Given the description of an element on the screen output the (x, y) to click on. 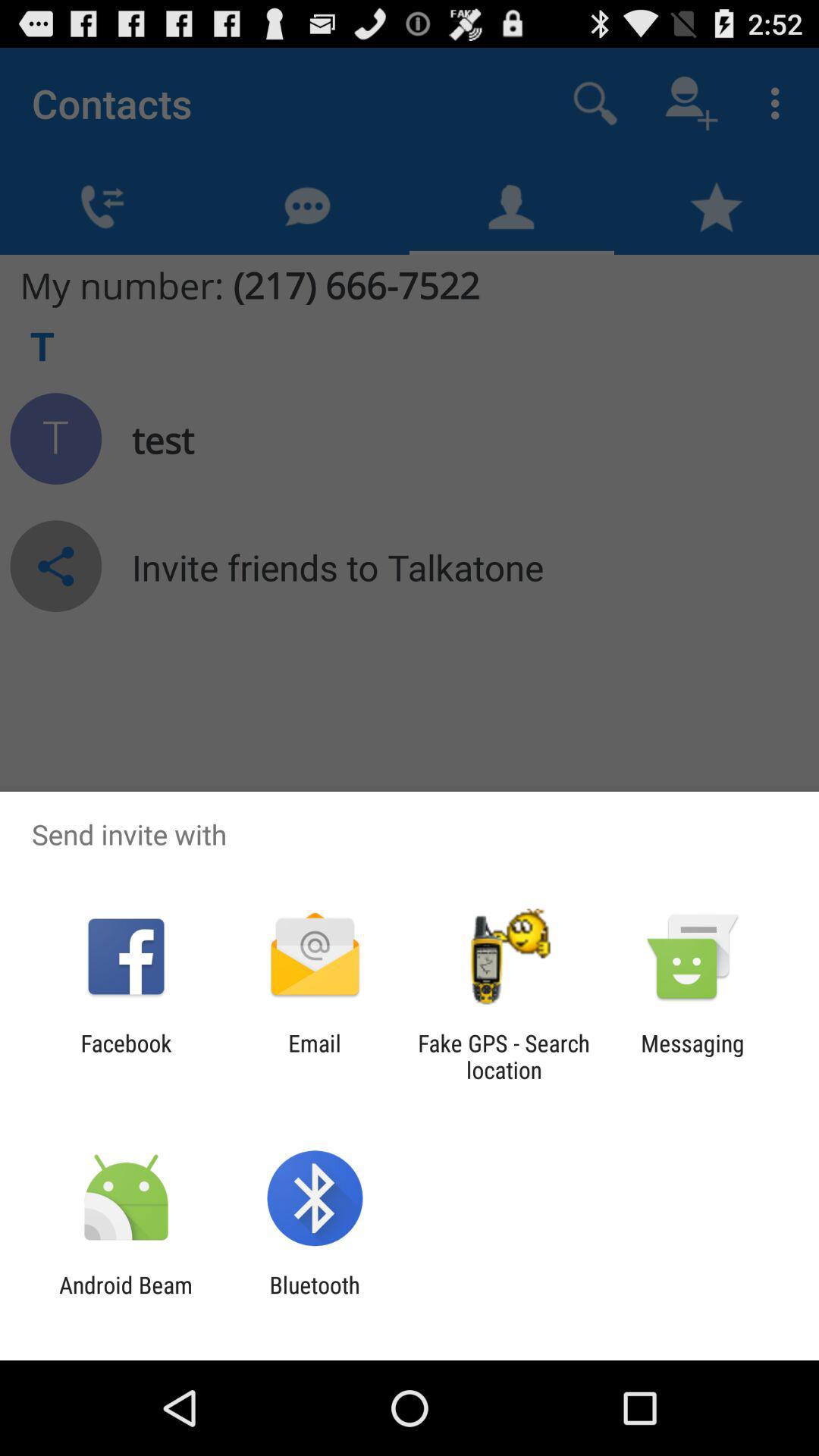
jump until facebook app (125, 1056)
